Given the description of an element on the screen output the (x, y) to click on. 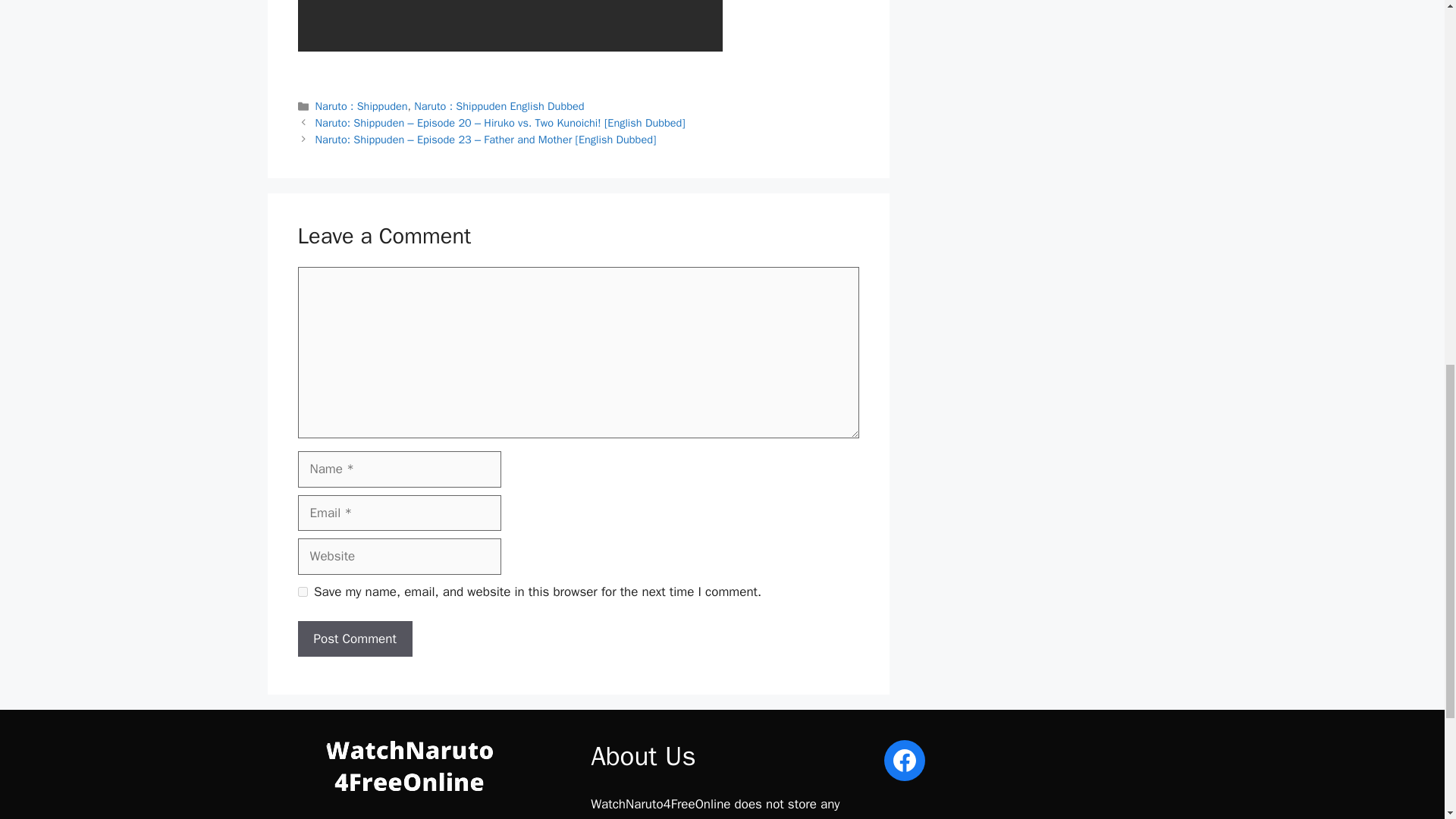
Next (485, 139)
Post Comment (354, 638)
Facebook (903, 760)
Naruto : Shippuden English Dubbed (498, 106)
Naruto : Shippuden (361, 106)
yes (302, 592)
Previous (500, 122)
Post Comment (354, 638)
